Given the description of an element on the screen output the (x, y) to click on. 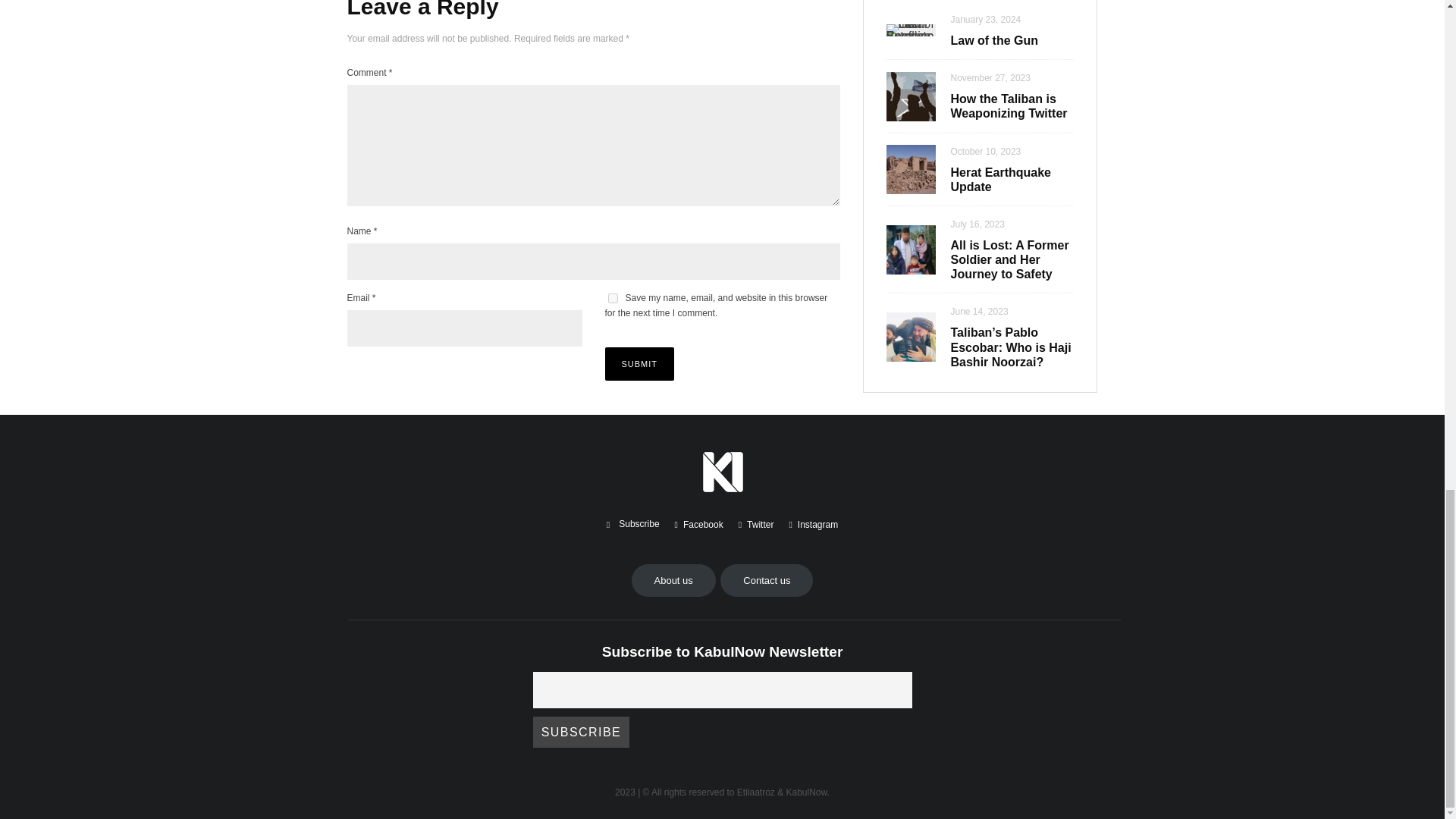
Subscribe (580, 731)
yes (612, 298)
Submit (640, 363)
